Given the description of an element on the screen output the (x, y) to click on. 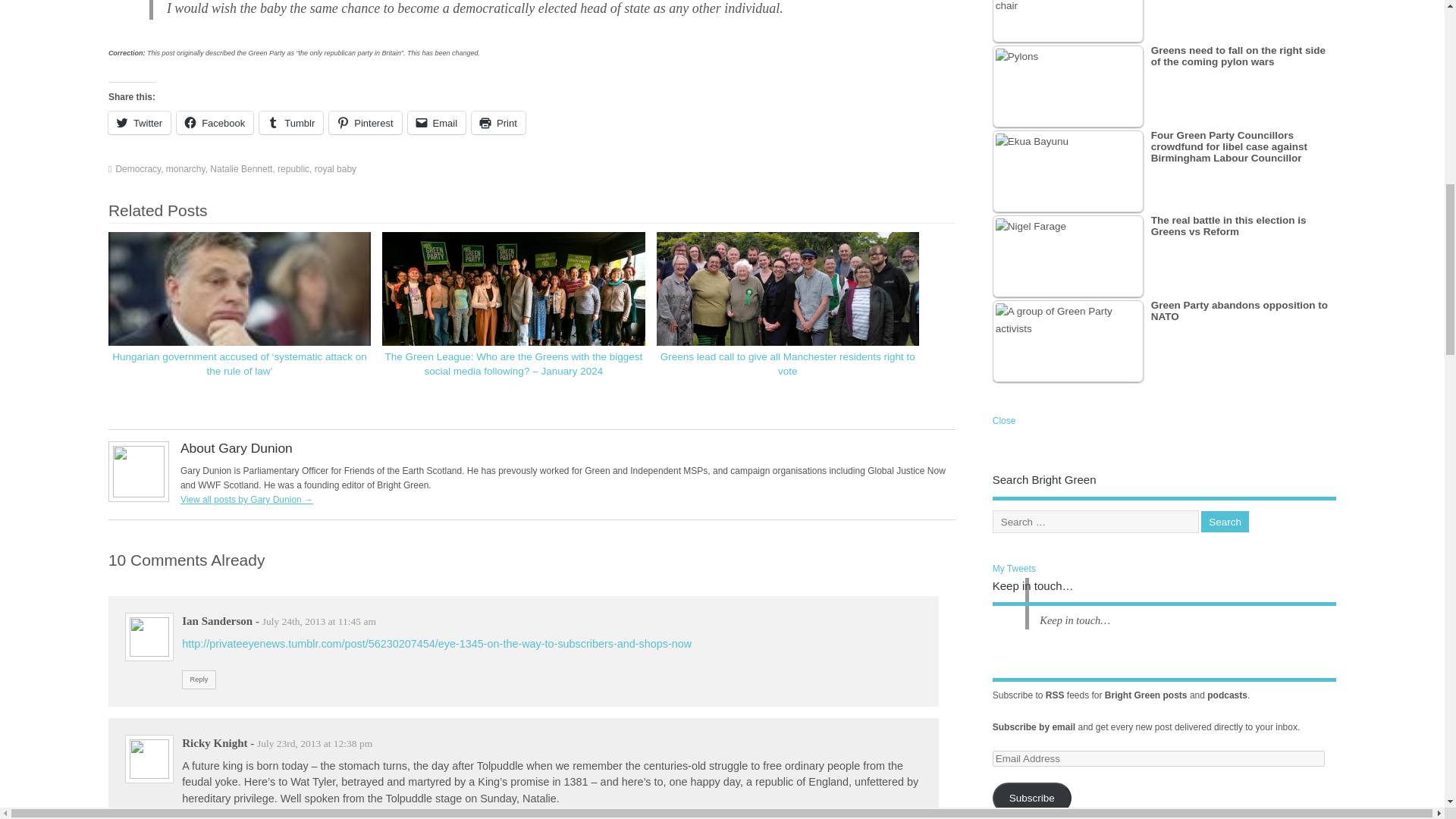
Click to share on Twitter (138, 122)
Search (1225, 522)
Twitter (138, 122)
Print (498, 122)
Click to print (498, 122)
Click to share on Tumblr (291, 122)
Natalie Bennett (240, 168)
Search (1225, 522)
monarchy (185, 168)
Facebook (214, 122)
